Given the description of an element on the screen output the (x, y) to click on. 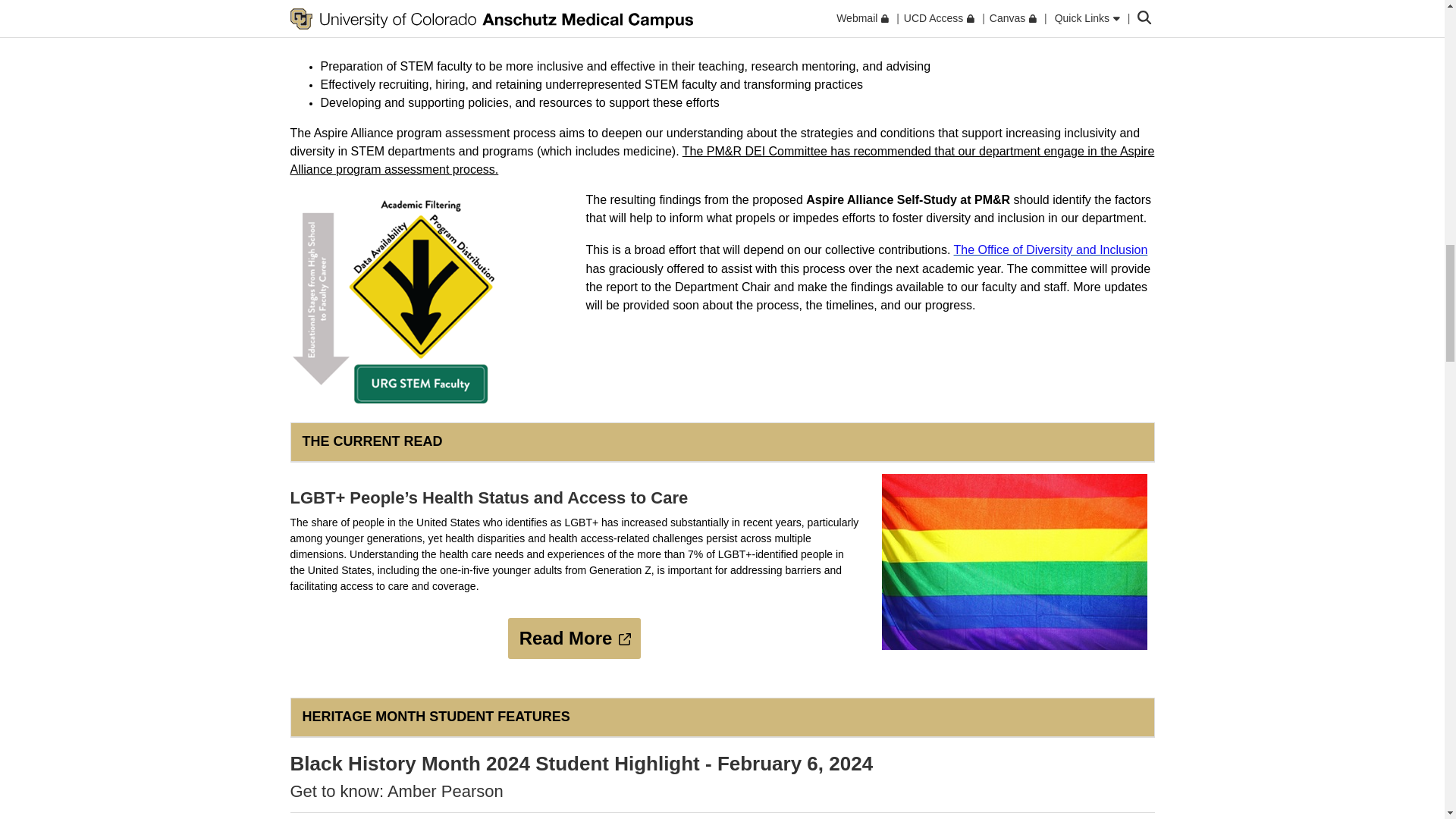
Academic Filtering Image (400, 300)
The Office of Diversity and Inclusion (1050, 249)
The NSF INCLUDES Aspire Alliance (715, 5)
The Office of Diversity and Inclusion (1050, 249)
Res600 Rainbow Flag (1013, 562)
Read More (575, 638)
